Given the description of an element on the screen output the (x, y) to click on. 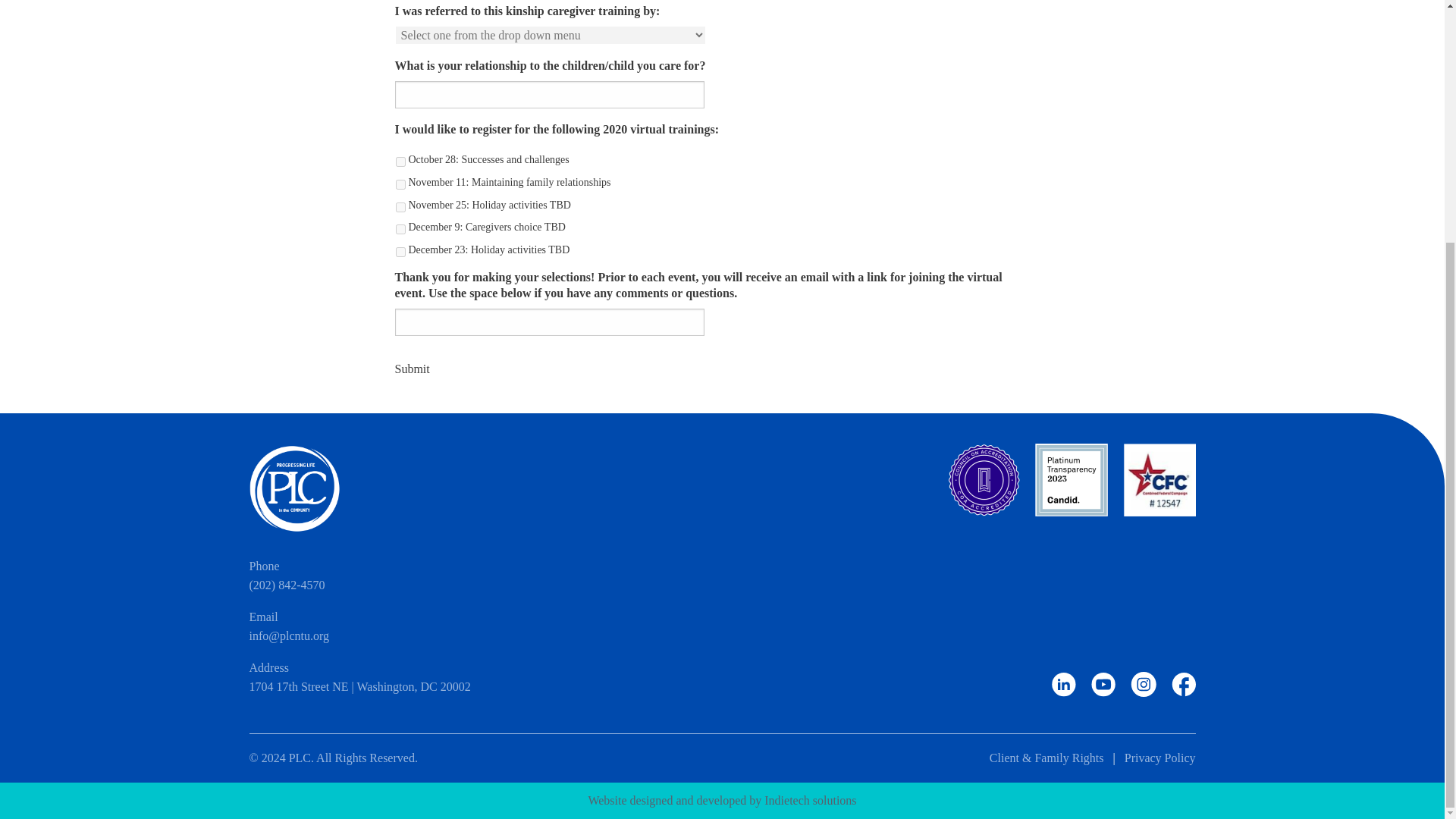
November 11: Maintaining family relationships (401, 184)
November 25: Holiday activities TBD (401, 207)
Indietech solutions (810, 799)
Submit (411, 369)
Submit (411, 369)
December 23: Holiday activities TBD (401, 252)
October 28: Successes and challenges (401, 162)
Privacy Policy (1159, 758)
December 9: Caregivers choice TBD (401, 229)
